Given the description of an element on the screen output the (x, y) to click on. 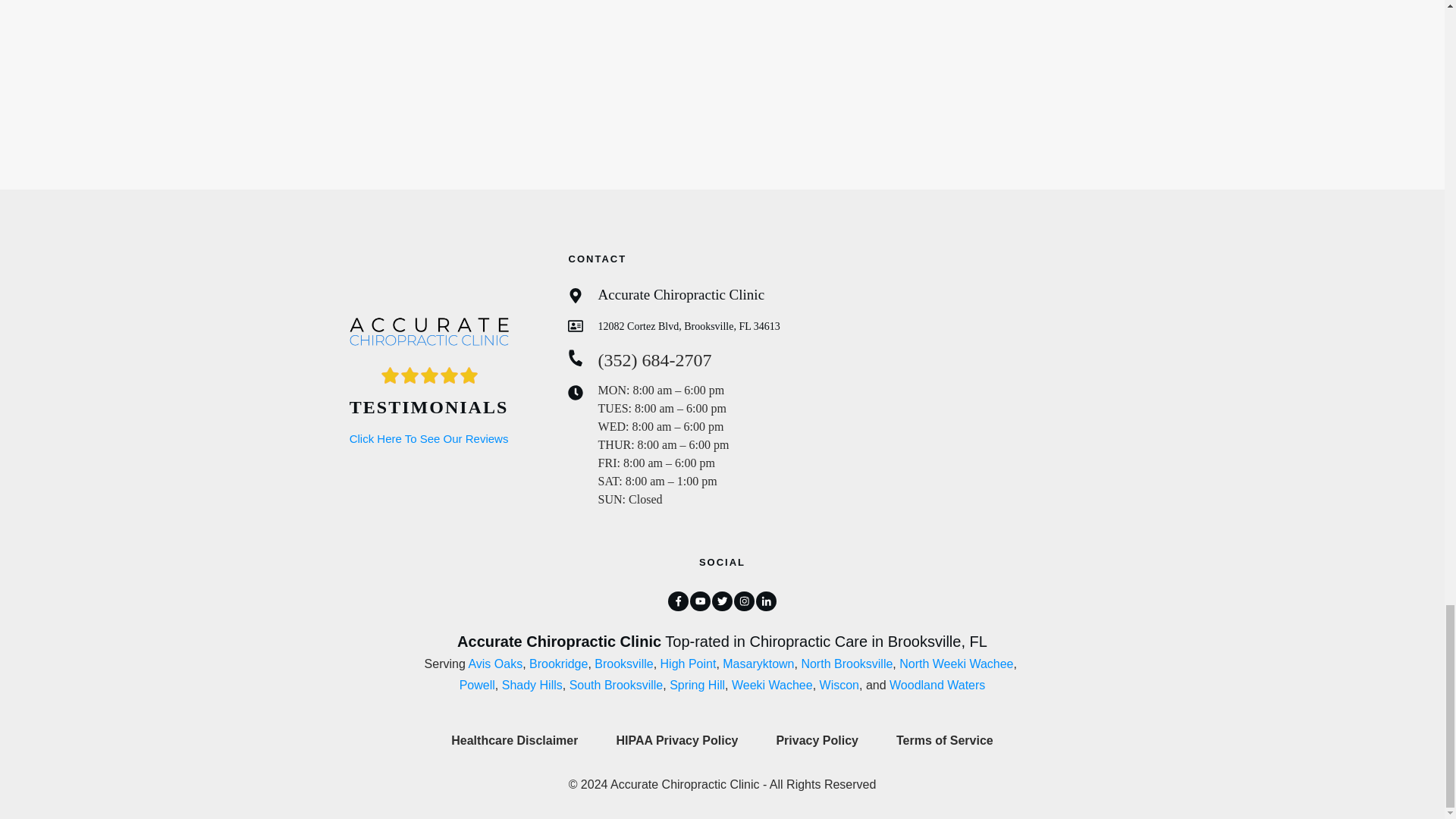
Google Map (995, 386)
